Given the description of an element on the screen output the (x, y) to click on. 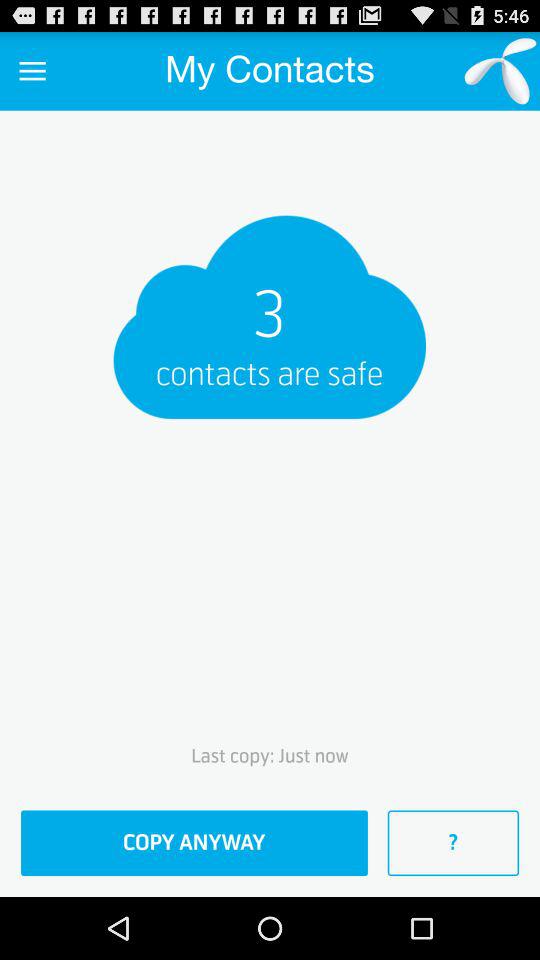
click the copy anyway (194, 843)
